Given the description of an element on the screen output the (x, y) to click on. 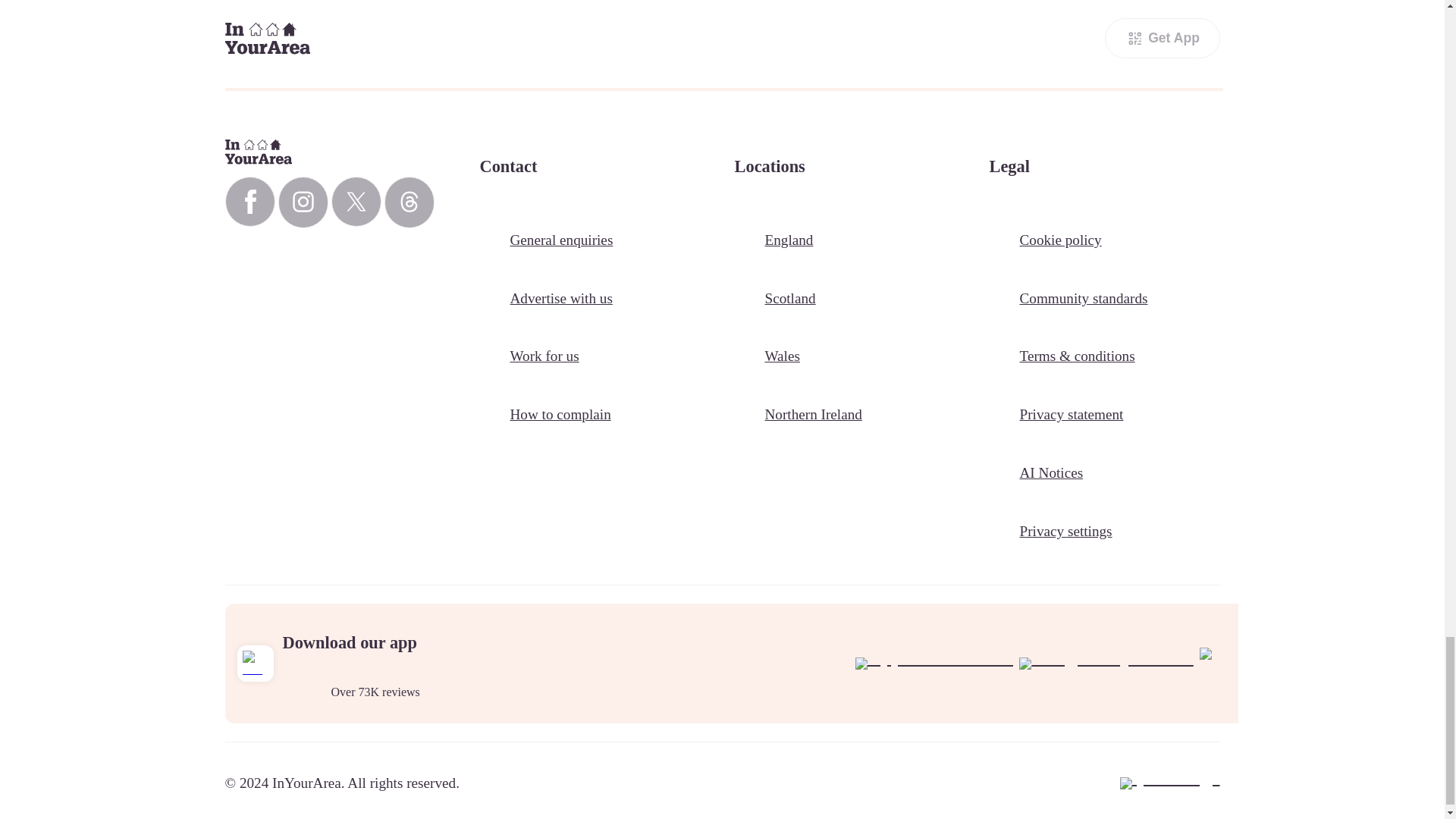
InYourArea Facebook (249, 201)
InYourArea Threads (408, 202)
InYourArea X (355, 201)
InYourArea Instagram (302, 202)
